Given the description of an element on the screen output the (x, y) to click on. 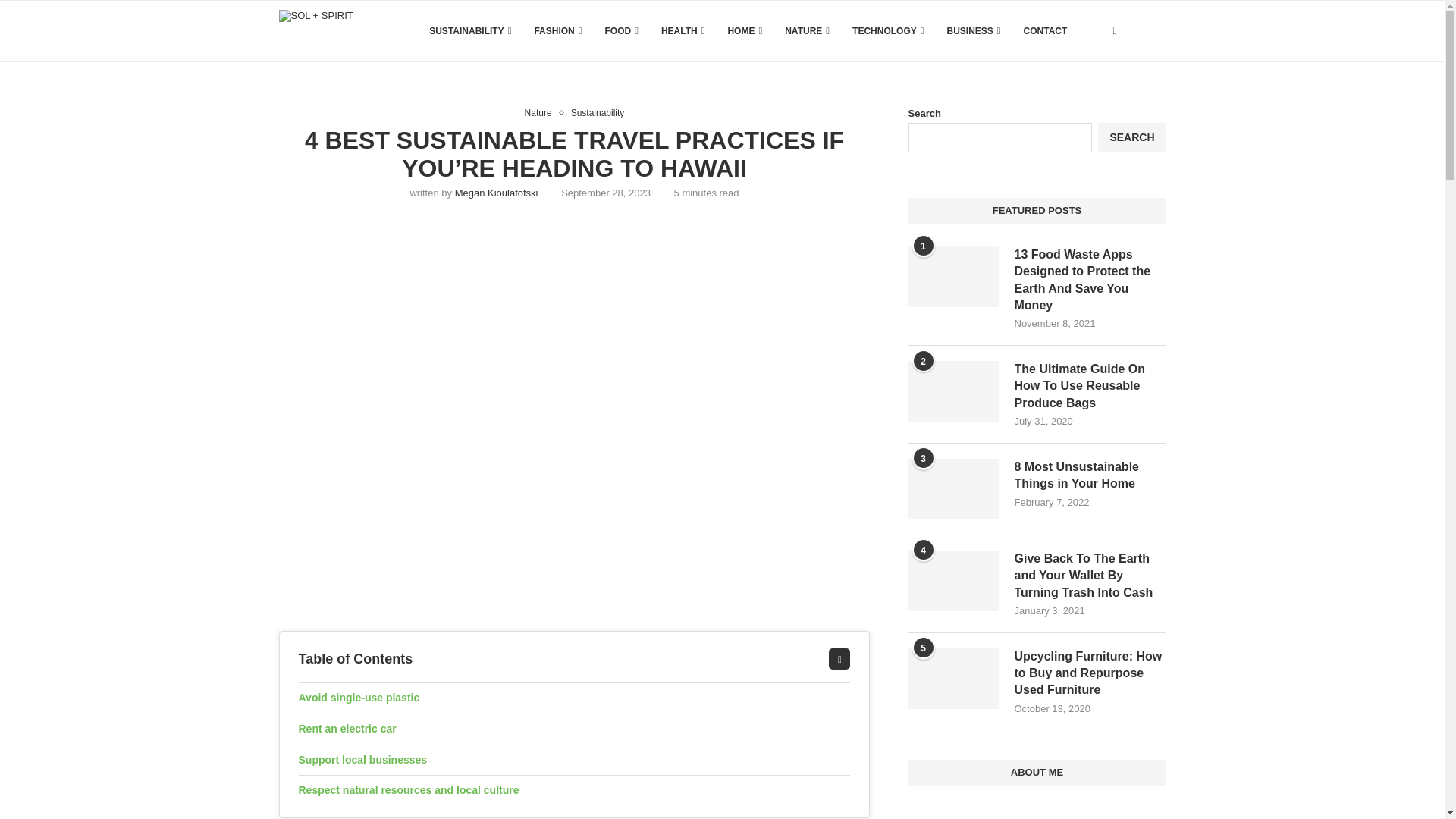
FASHION (557, 30)
SUSTAINABILITY (470, 30)
FOOD (622, 30)
